Given the description of an element on the screen output the (x, y) to click on. 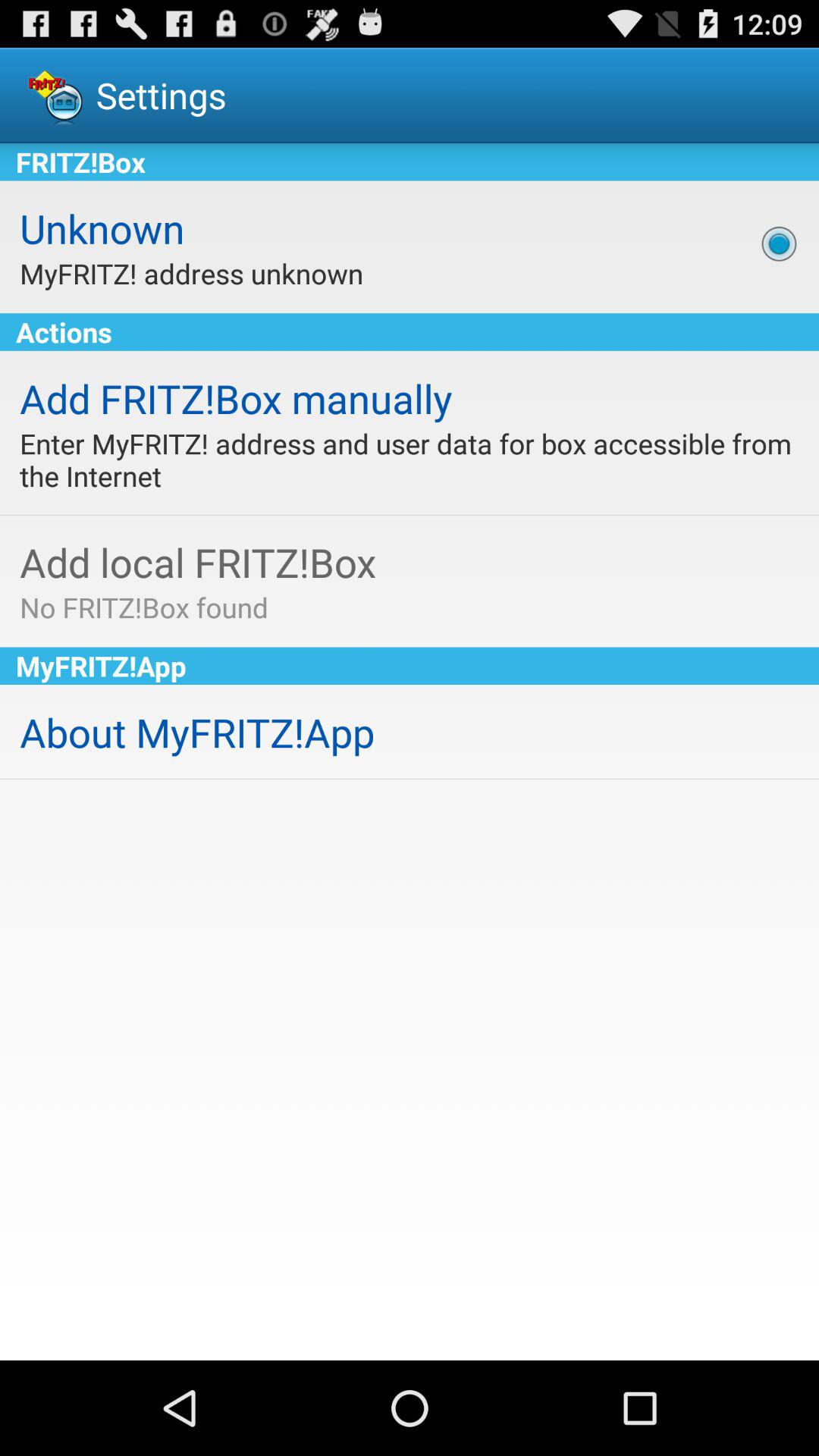
turn on the item at the top right corner (779, 243)
